Given the description of an element on the screen output the (x, y) to click on. 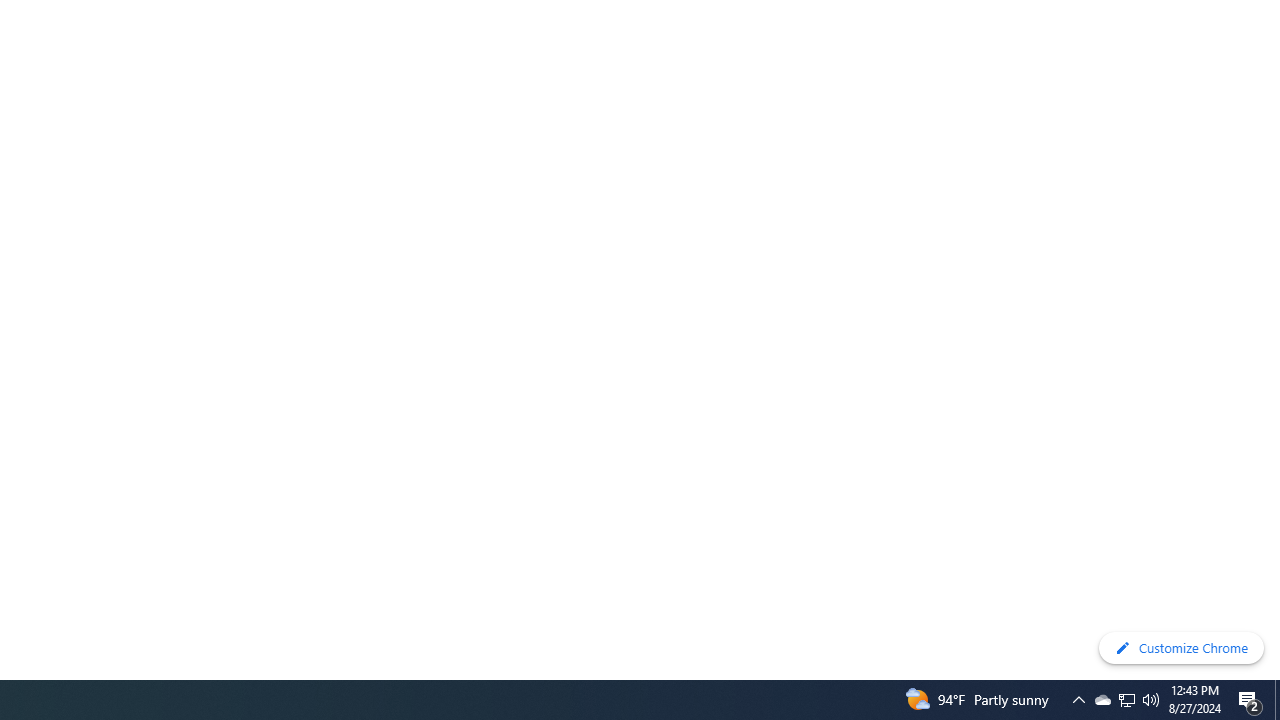
Customize Chrome (1181, 647)
